Given the description of an element on the screen output the (x, y) to click on. 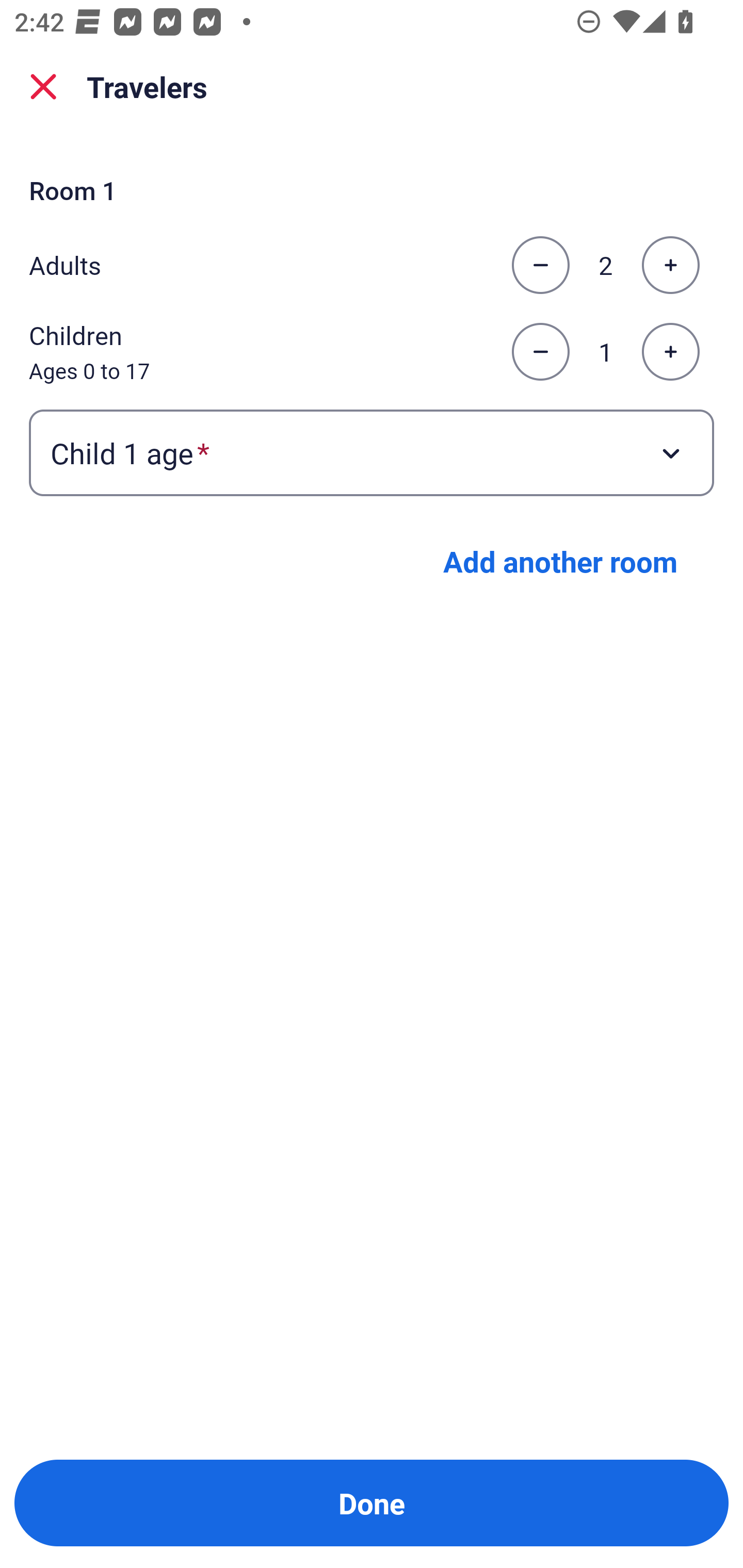
close (43, 86)
Decrease the number of adults (540, 264)
Increase the number of adults (670, 264)
Decrease the number of children (540, 351)
Increase the number of children (670, 351)
Child 1 age required Button (371, 452)
Add another room (560, 561)
Done (371, 1502)
